Given the description of an element on the screen output the (x, y) to click on. 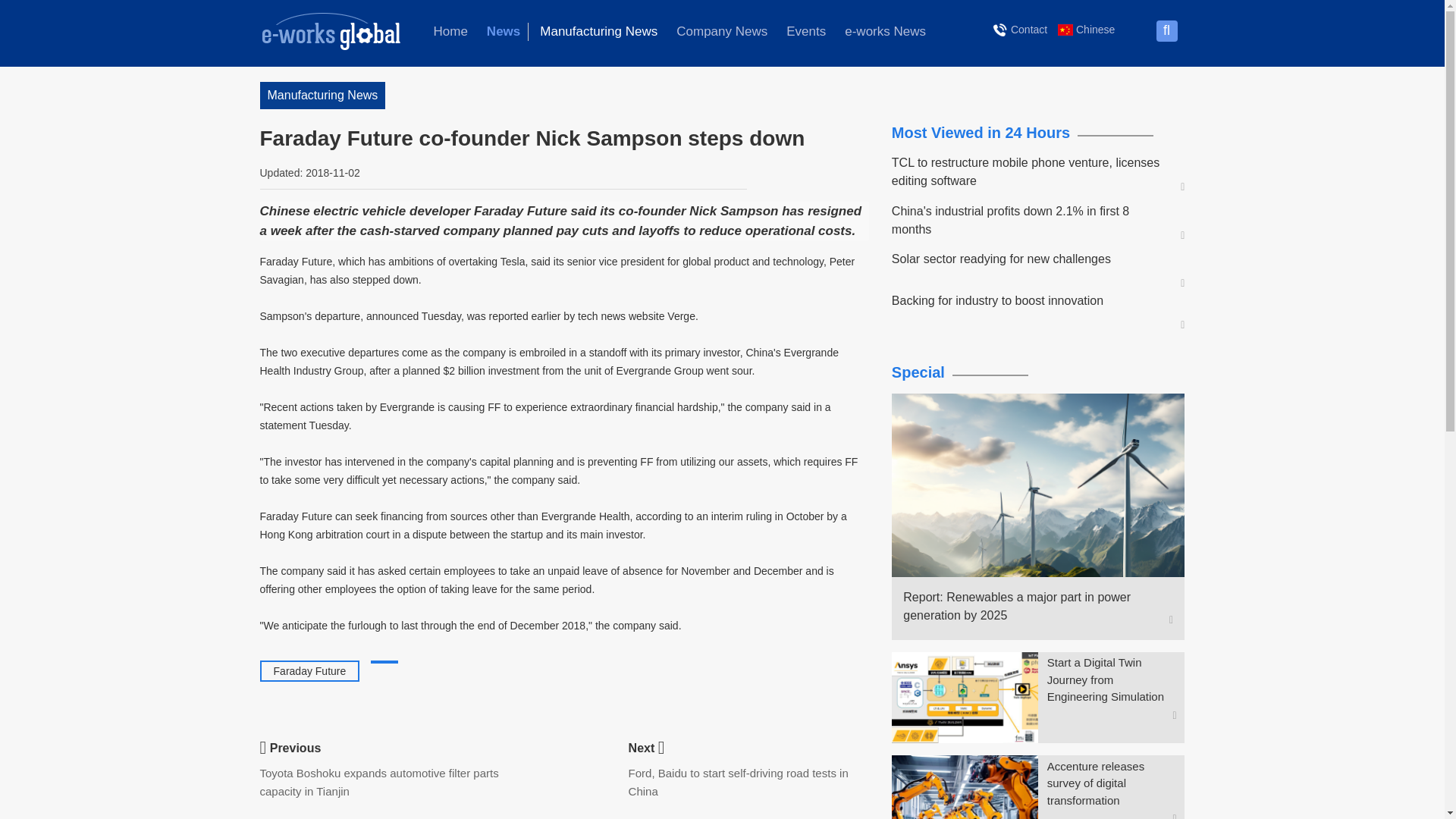
Contact (1020, 29)
Home (451, 31)
Chinese (1086, 29)
Faraday Future (309, 671)
Events (805, 31)
e-works News (885, 31)
News (503, 31)
Backing for industry to boost innovation (1030, 300)
Report: Renewables a major part in power generation by 2025 (1030, 606)
